Given the description of an element on the screen output the (x, y) to click on. 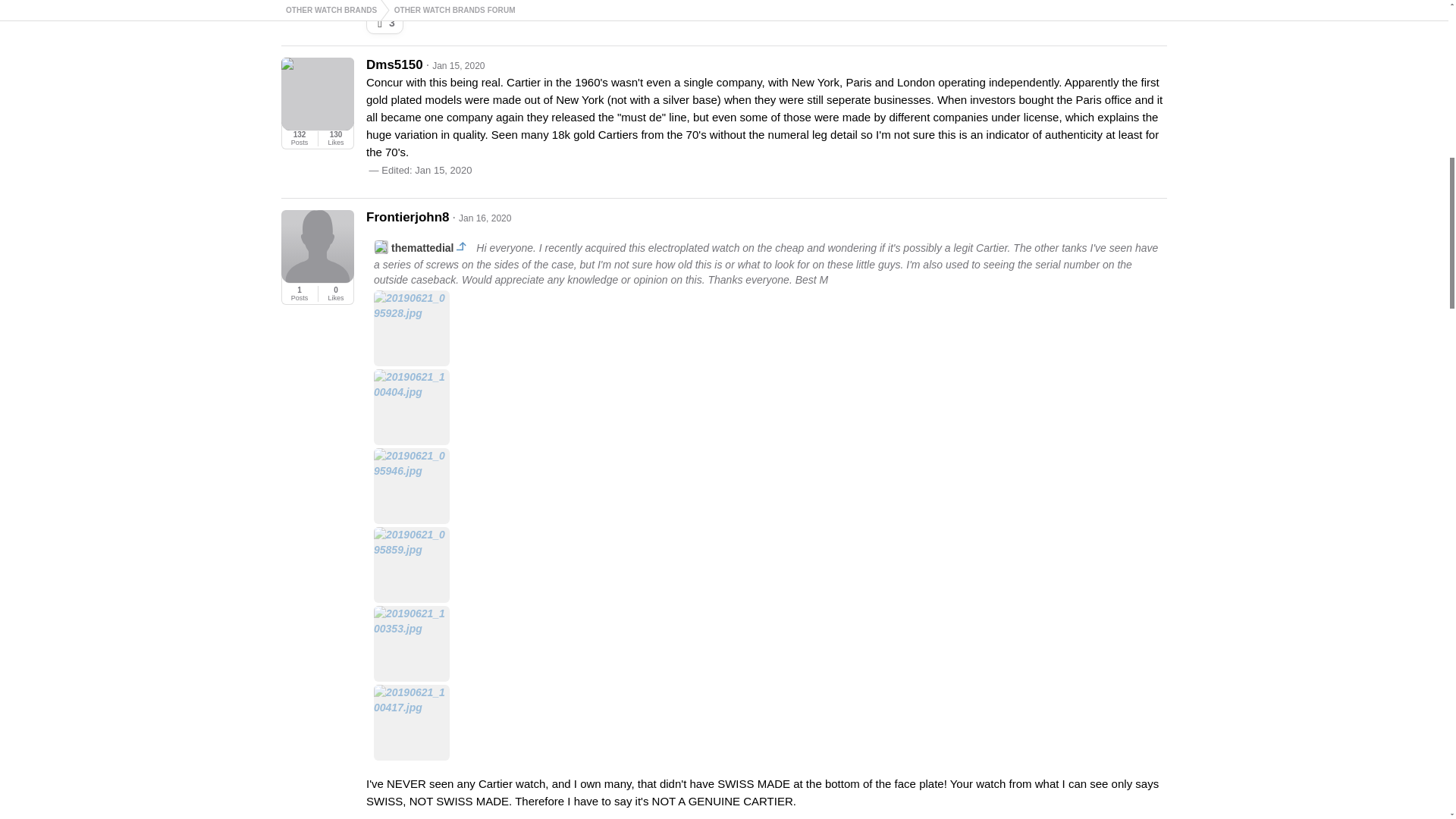
Jan 15, 2020 6:20am (458, 65)
Jan 16, 2020 (484, 217)
Jan 16, 2020 5:35pm (484, 217)
Dms5150 (394, 64)
Jan 15, 2020 6:28am (442, 170)
Like (379, 22)
Frontierjohn8 (407, 216)
Jan 15, 2020 (458, 65)
